Given the description of an element on the screen output the (x, y) to click on. 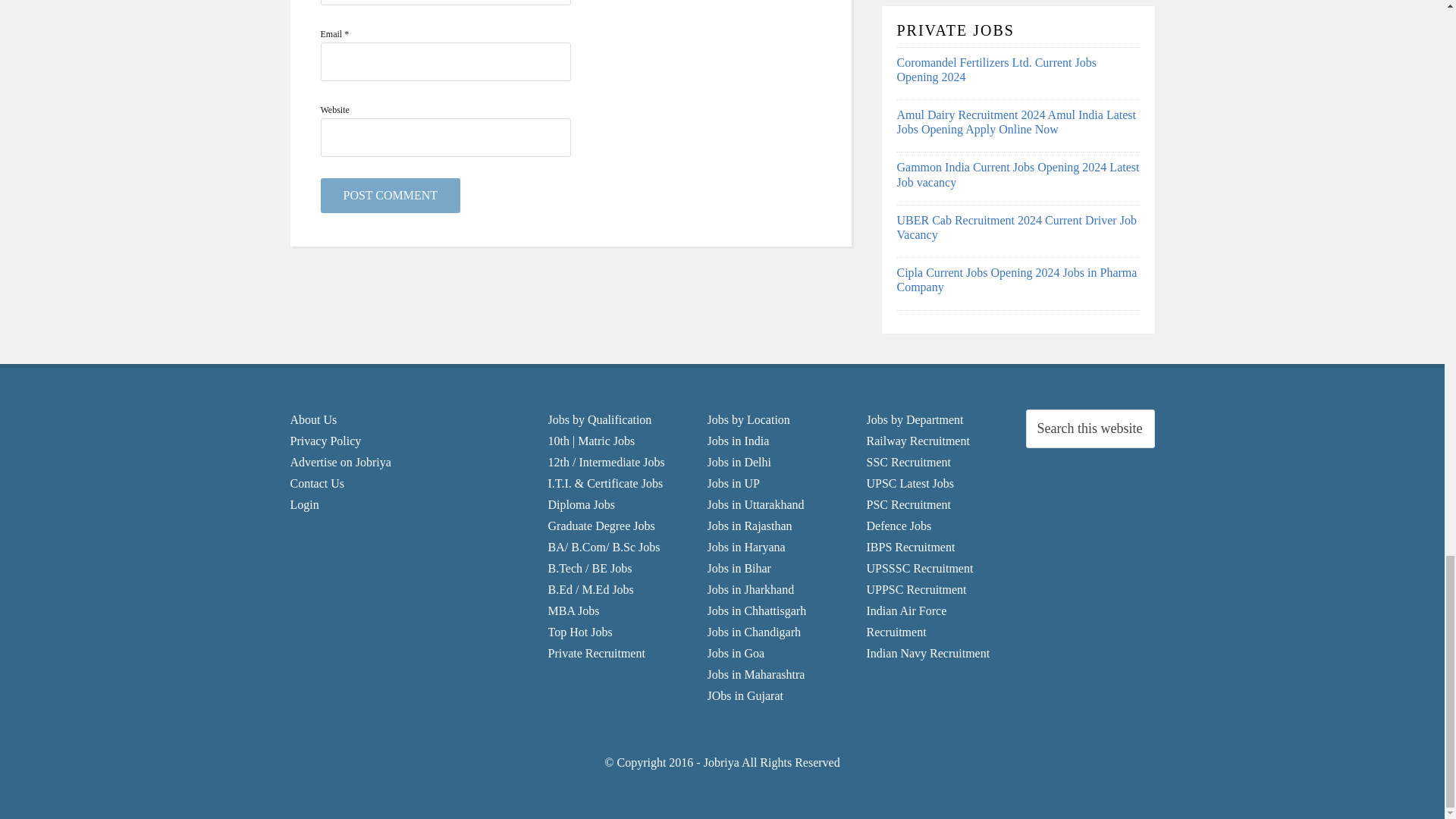
Post Comment (390, 195)
